Given the description of an element on the screen output the (x, y) to click on. 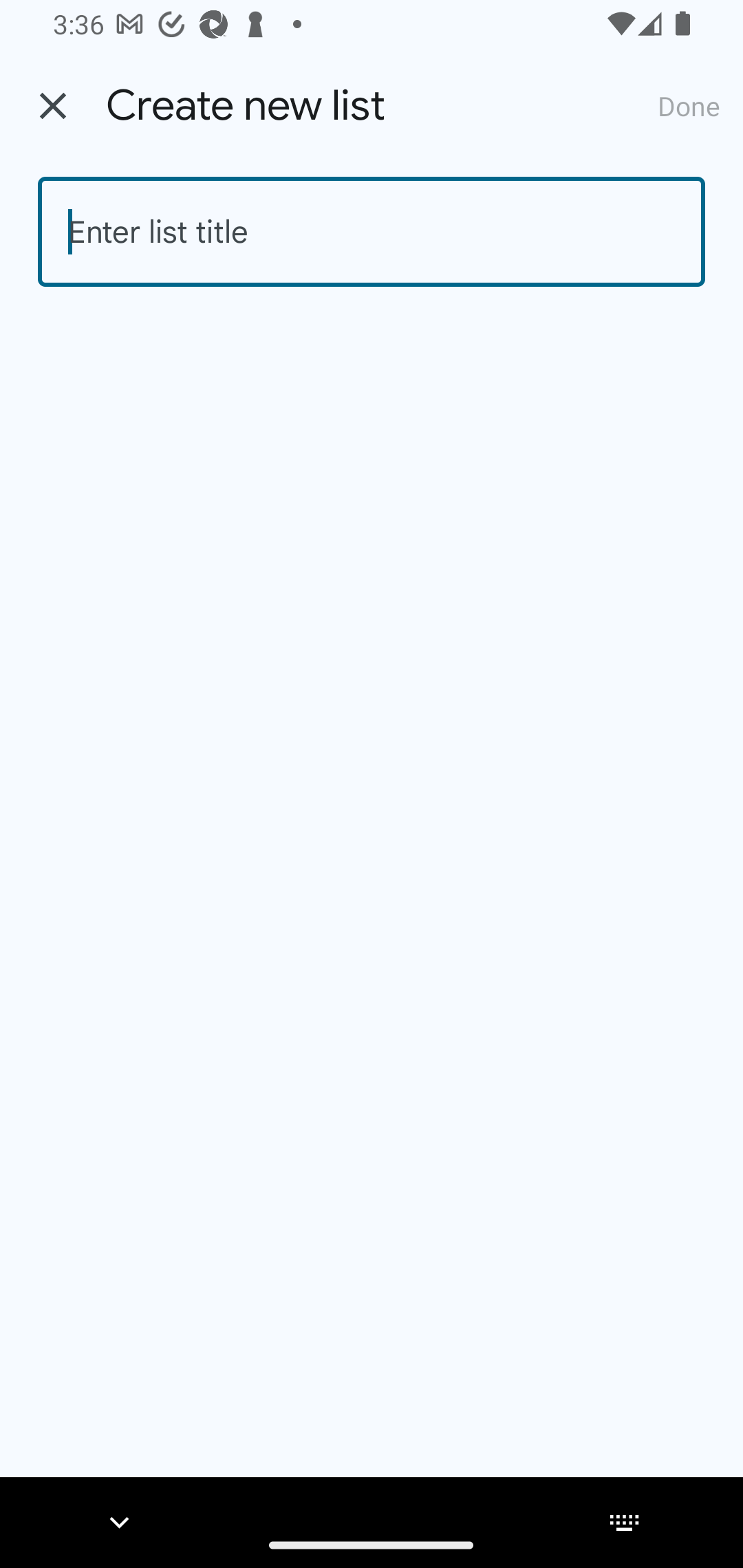
Back (53, 105)
Done (689, 105)
Enter list title (371, 231)
